Given the description of an element on the screen output the (x, y) to click on. 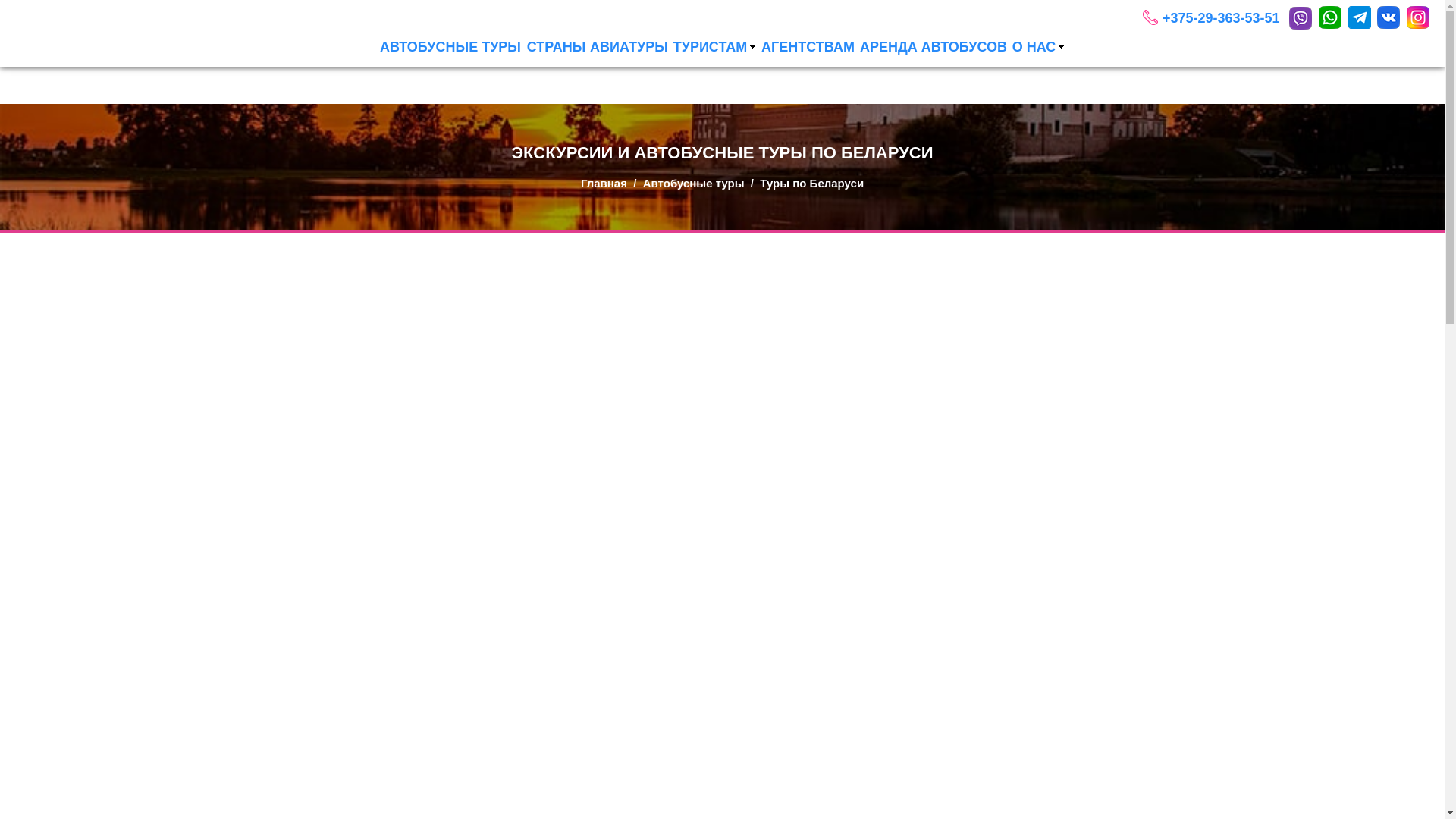
+375-29-363-53-51 Element type: text (1222, 17)
